Given the description of an element on the screen output the (x, y) to click on. 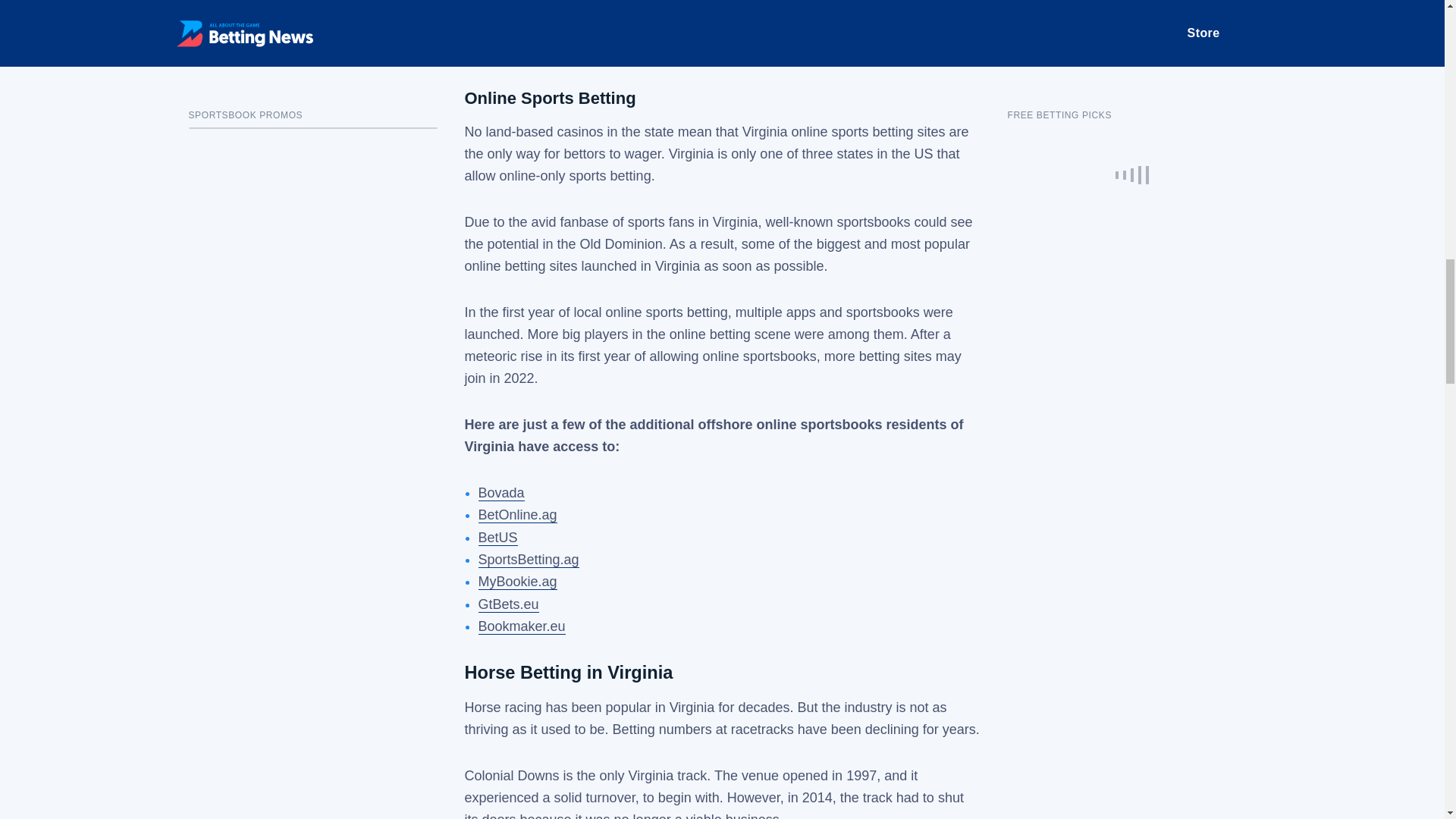
SportsBetting.ag (527, 560)
Bovada (500, 493)
BetUS (496, 537)
BetOnline.ag (516, 514)
